Given the description of an element on the screen output the (x, y) to click on. 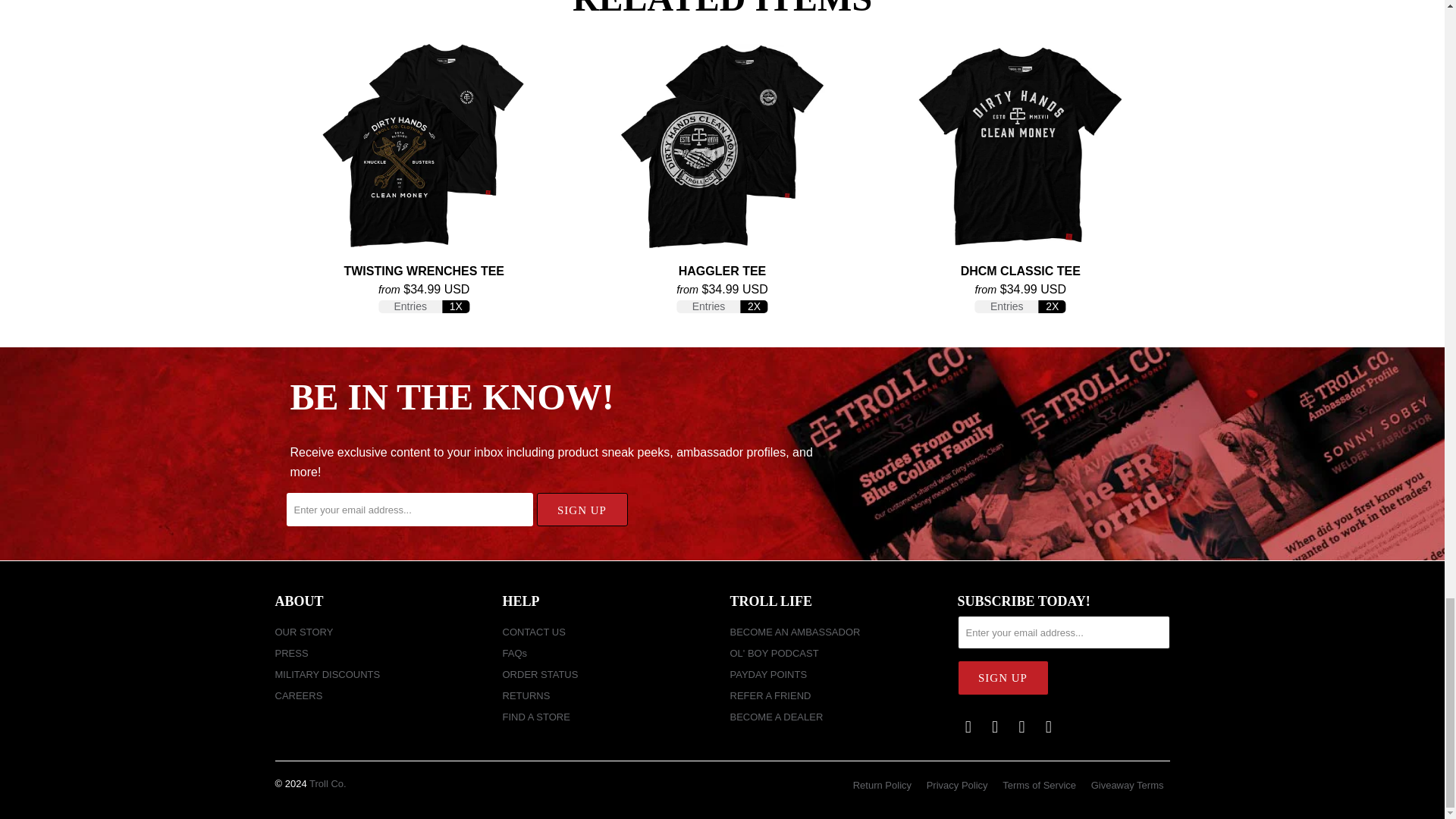
Sign Up (1002, 677)
Sign Up (582, 509)
